Given the description of an element on the screen output the (x, y) to click on. 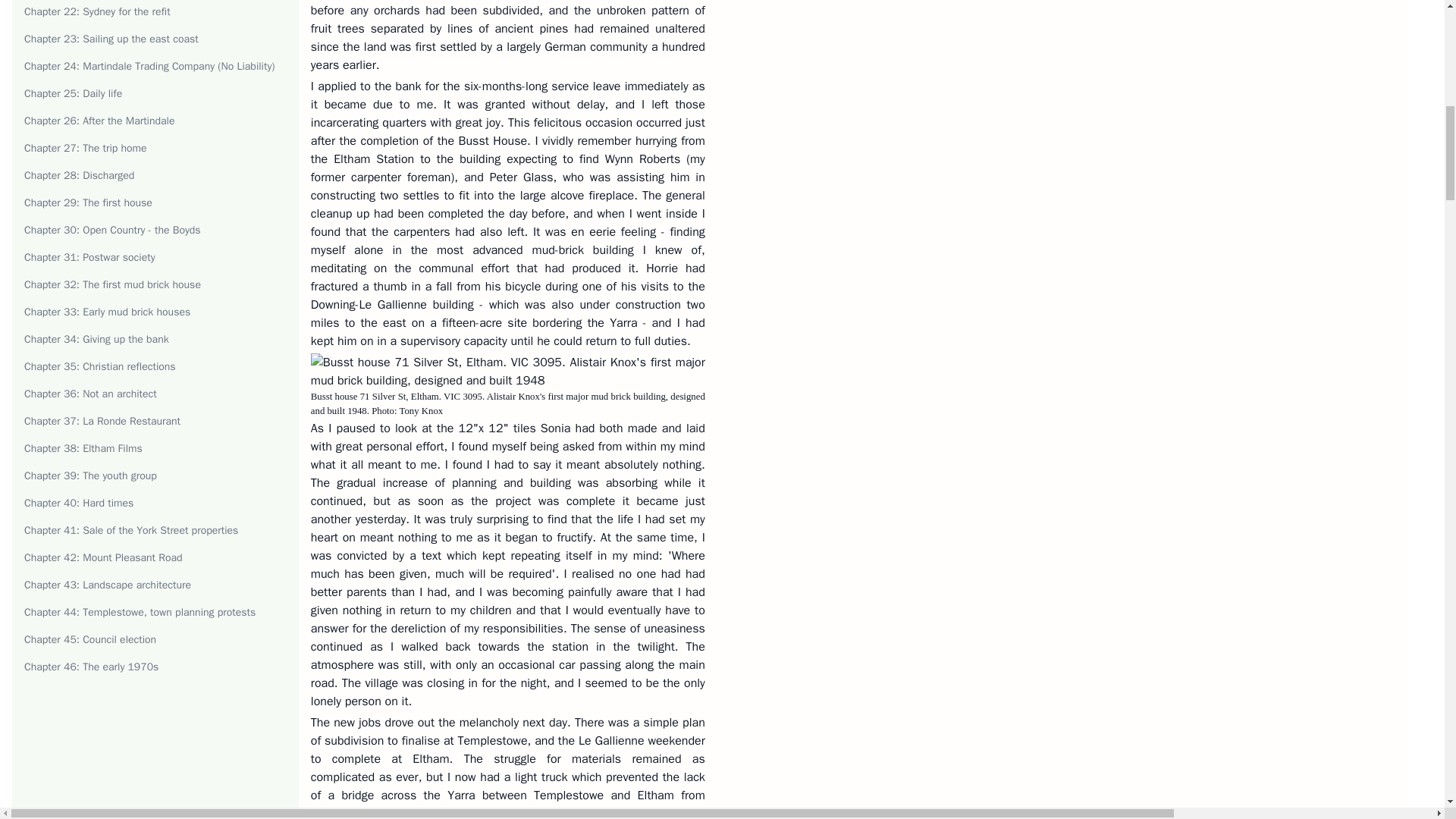
Chapter 23: Sailing up the east coast (111, 38)
Chapter 22: Sydney for the refit (97, 11)
Chapter 25: Daily life (73, 92)
